Given the description of an element on the screen output the (x, y) to click on. 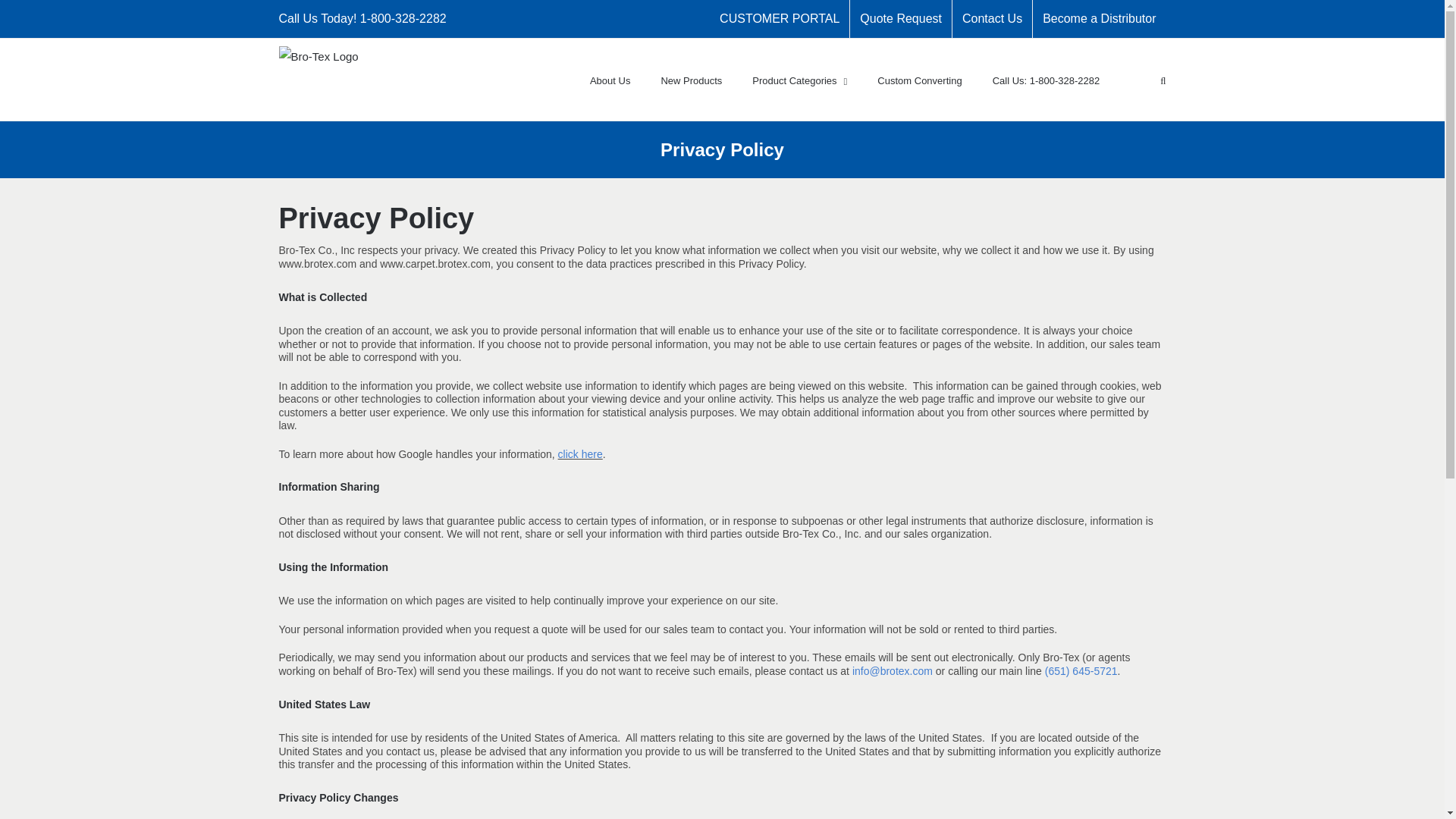
New Products (691, 79)
Quote Request (901, 18)
Become a Distributor (1099, 18)
click here (579, 453)
Call Us: 1-800-328-2282 (1046, 79)
About Us (609, 79)
Product Categories (799, 79)
CUSTOMER PORTAL (779, 18)
Contact Us (992, 18)
Custom Converting (918, 79)
Search (1147, 79)
